Given the description of an element on the screen output the (x, y) to click on. 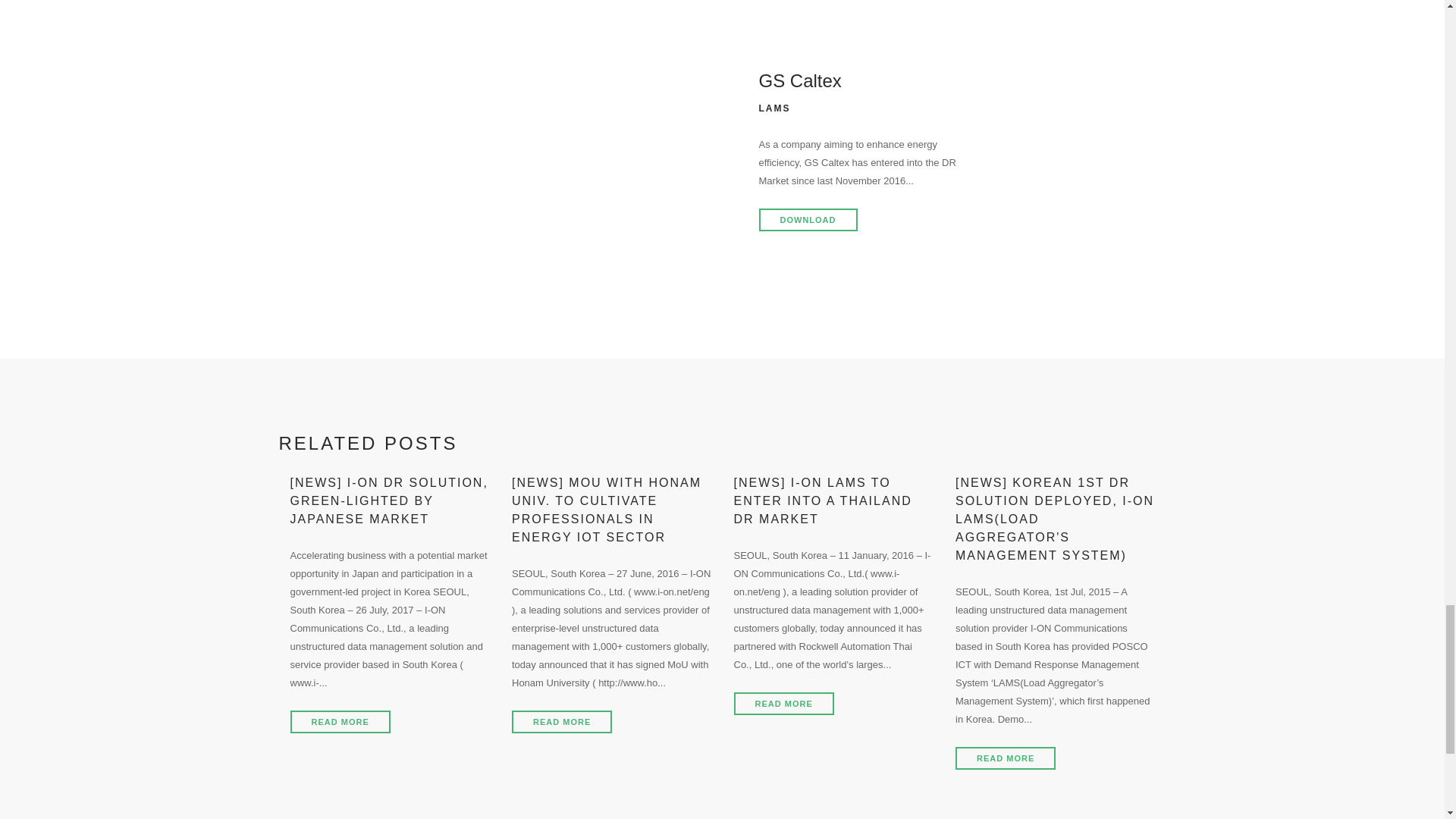
READ MORE (339, 721)
READ MORE (1005, 757)
READ MORE (561, 721)
READ MORE (783, 703)
DOWNLOAD (807, 219)
